Given the description of an element on the screen output the (x, y) to click on. 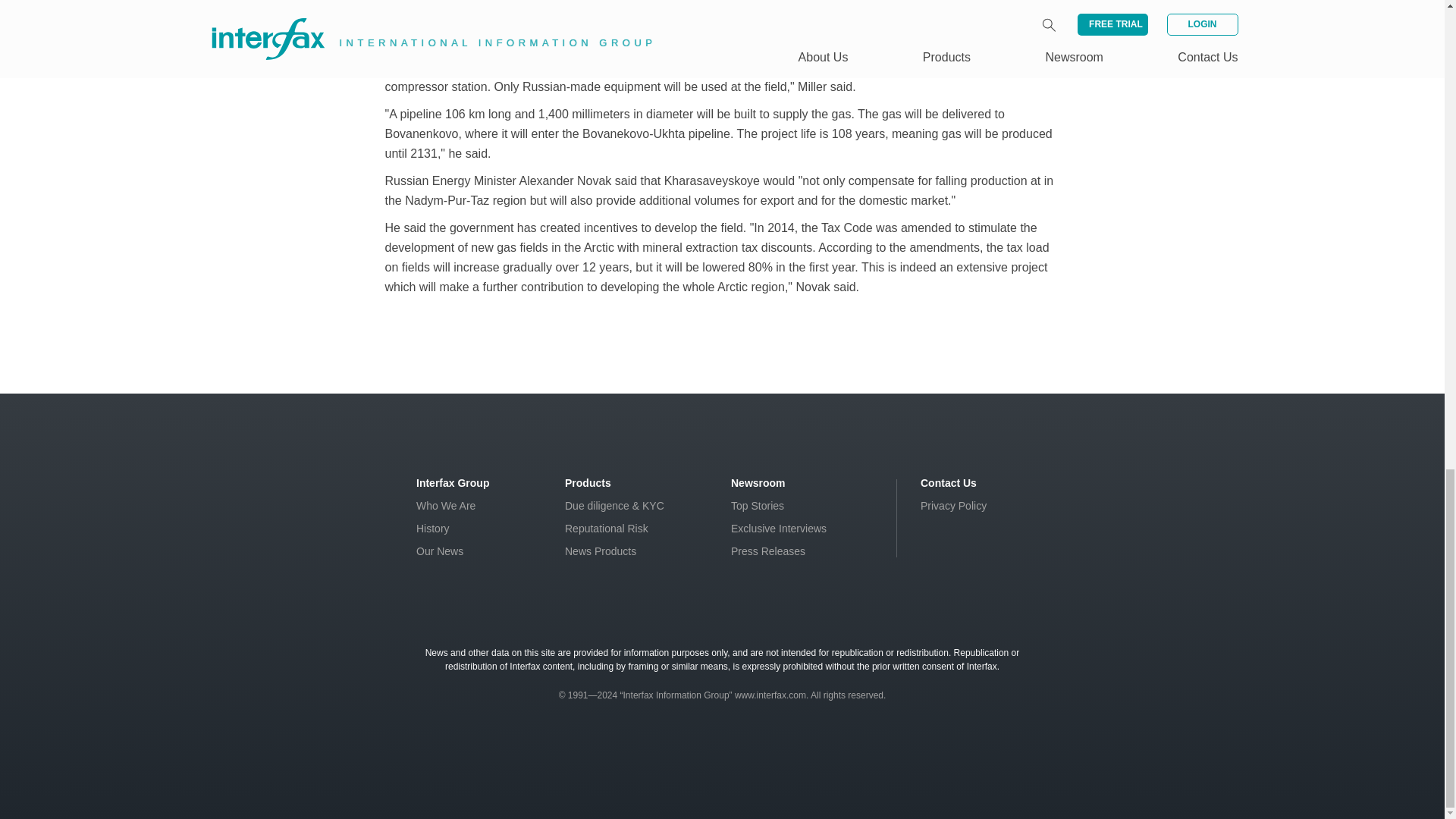
Interfax Group (452, 482)
Who We Are (446, 505)
Our News (439, 551)
History (432, 528)
